Given the description of an element on the screen output the (x, y) to click on. 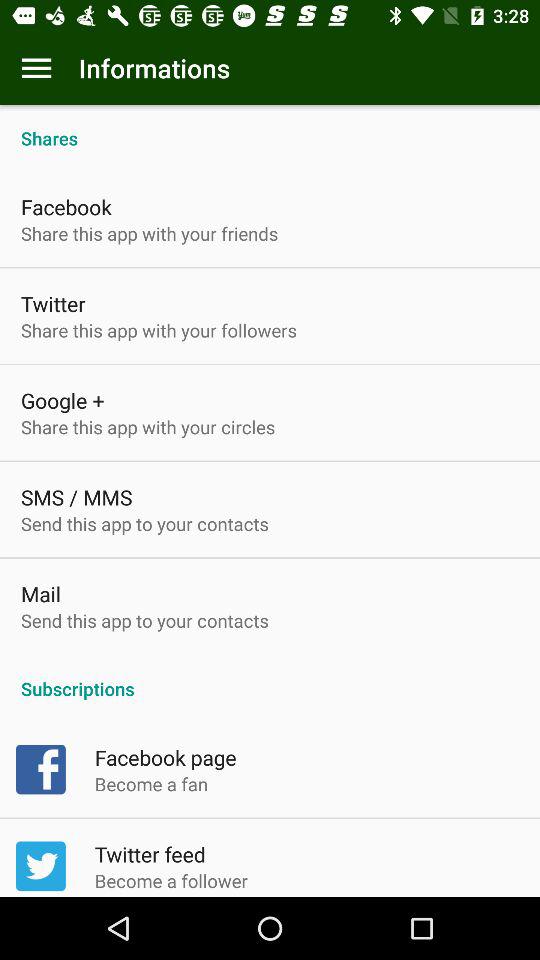
turn off the app to the left of informations item (36, 68)
